Given the description of an element on the screen output the (x, y) to click on. 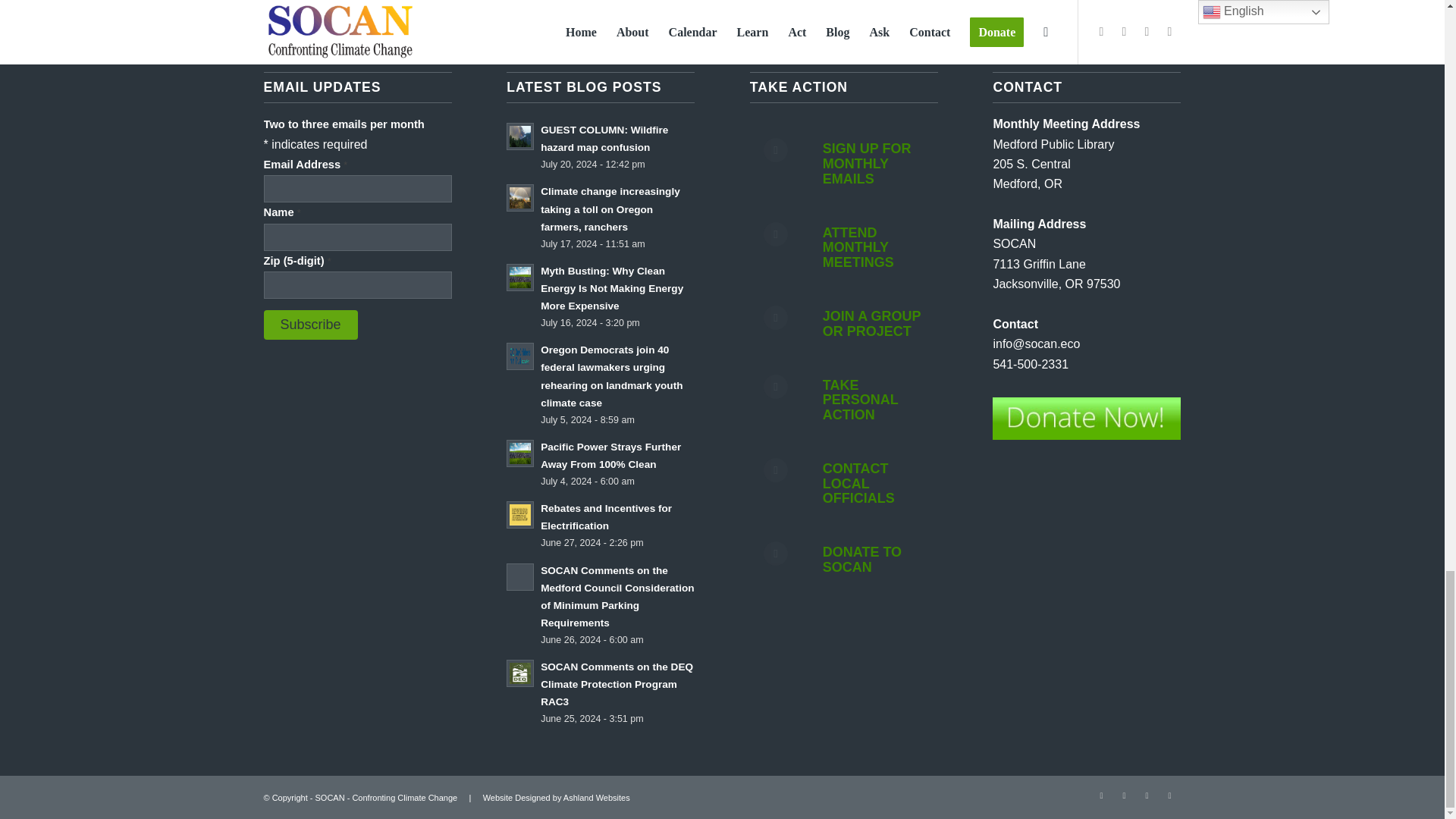
Subscribe (310, 324)
